Given the description of an element on the screen output the (x, y) to click on. 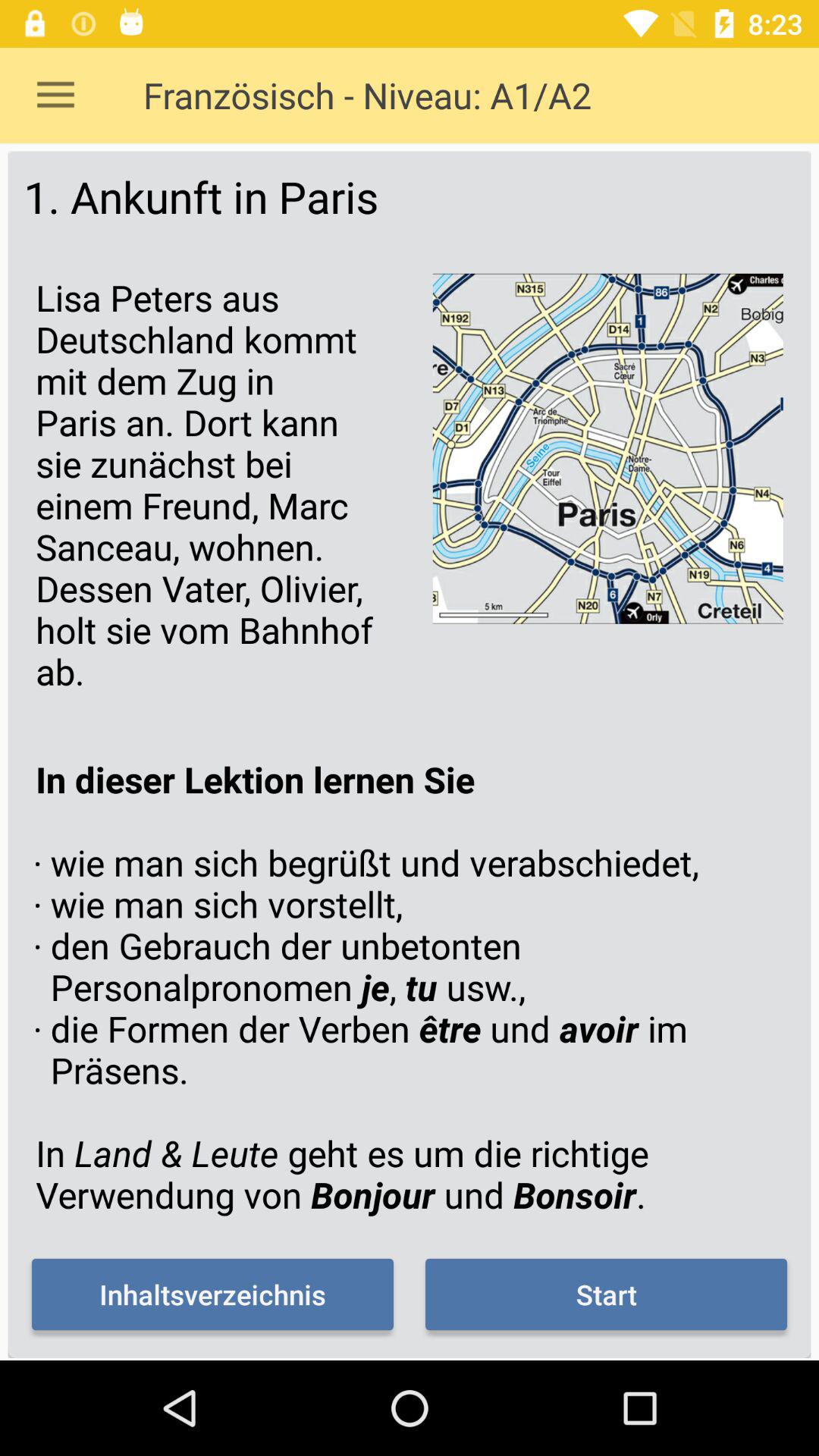
click start item (606, 1294)
